Given the description of an element on the screen output the (x, y) to click on. 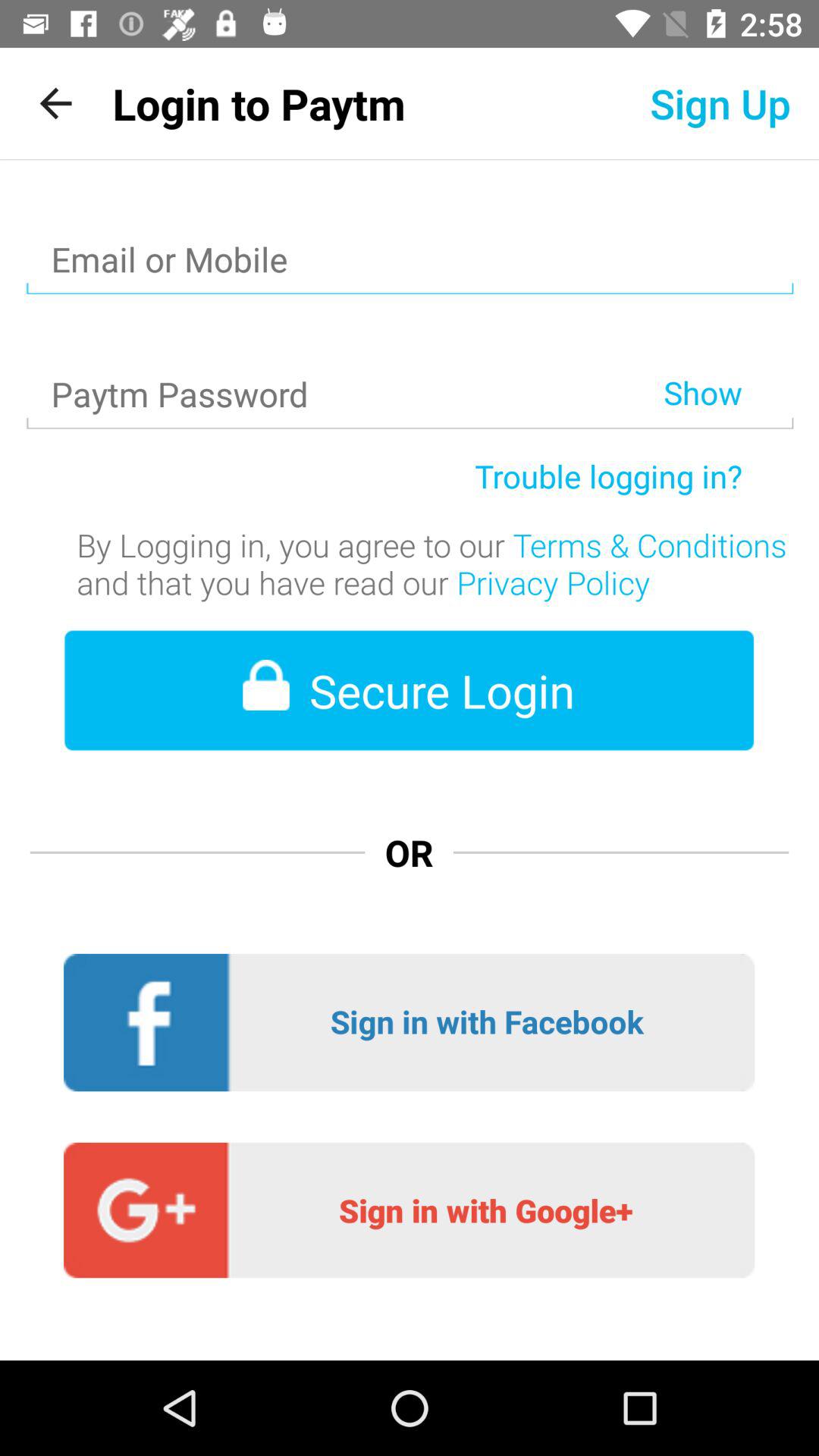
turn on item to the left of show item (344, 355)
